Given the description of an element on the screen output the (x, y) to click on. 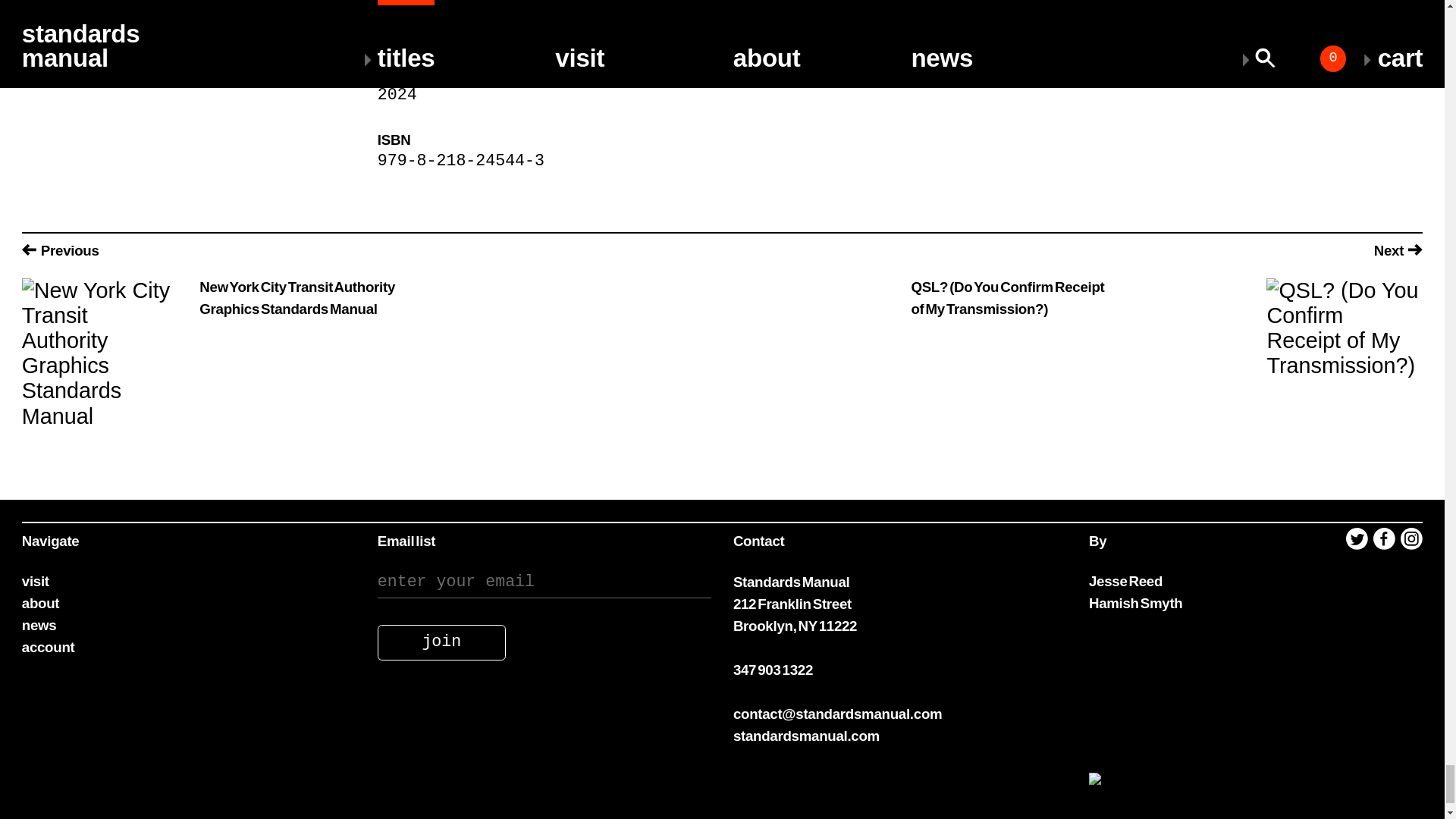
Studio Carnley (622, 27)
news (38, 625)
Studio Carnley (848, 7)
visit (35, 580)
about (40, 602)
Join (441, 642)
